Given the description of an element on the screen output the (x, y) to click on. 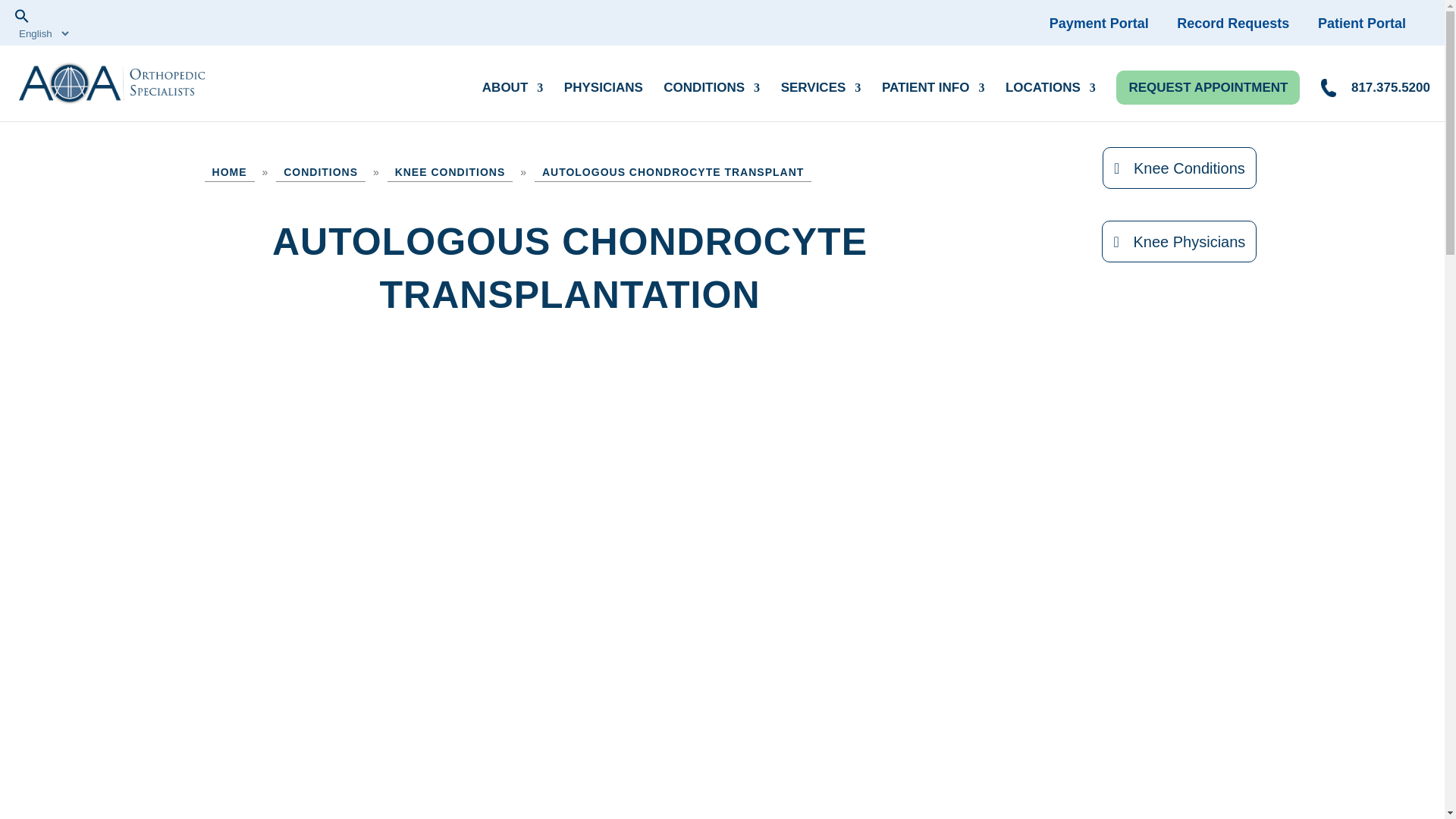
Autologous Chondrocyte Transplant (672, 171)
Knee Conditions (450, 171)
Record Requests (1244, 22)
Patient Portal (1373, 22)
Home (229, 171)
PATIENT INFO (933, 94)
Payment Portal (1111, 22)
ABOUT (512, 94)
CONDITIONS (711, 94)
SERVICES (820, 94)
